Given the description of an element on the screen output the (x, y) to click on. 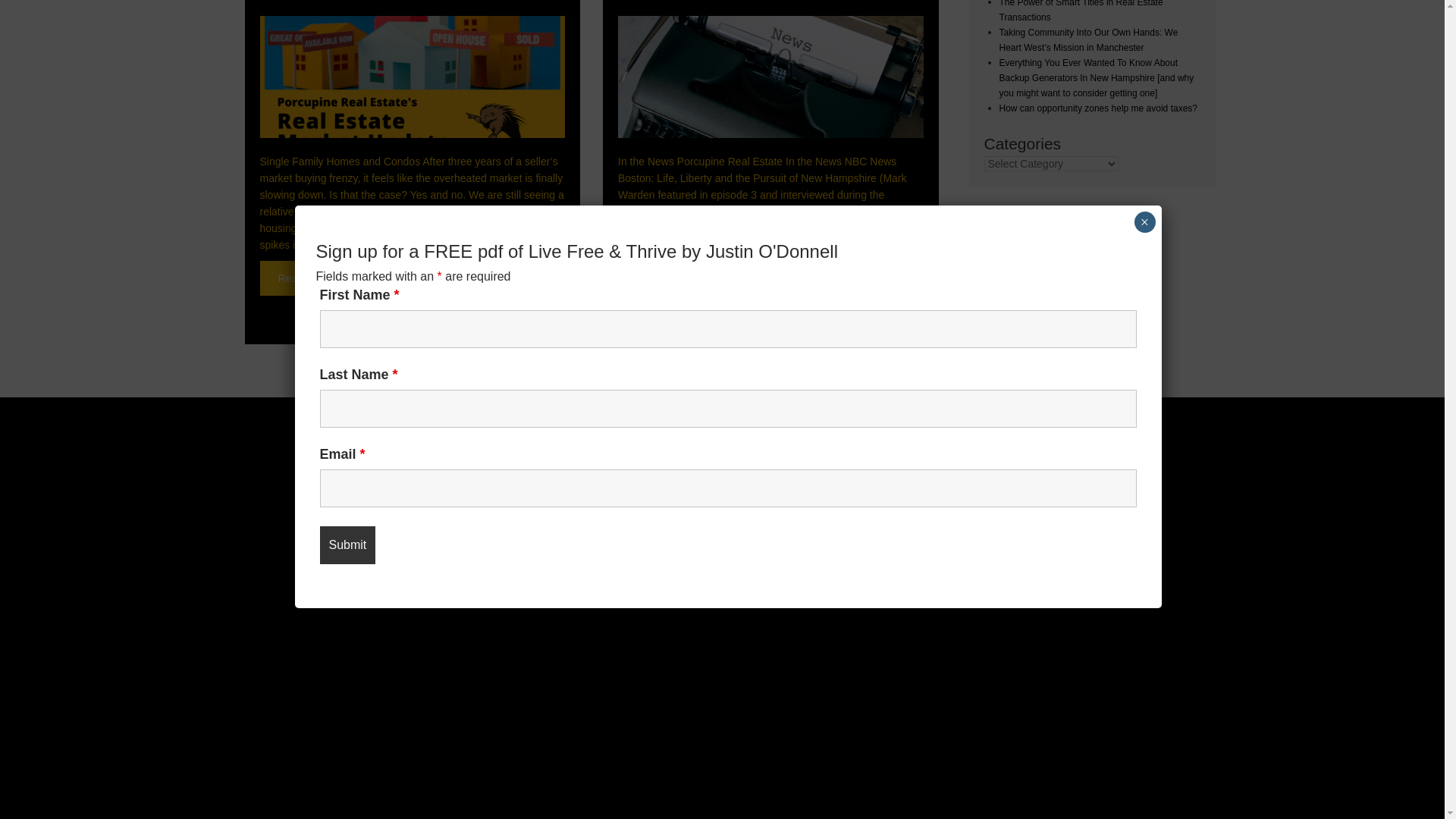
Porcupine Real Estate in the News (661, 294)
Read More (303, 278)
Submit (347, 220)
Porcupine Real Estate (516, 490)
October Real Estate Market Update (303, 278)
Porcupine Real Estate in the News (770, 76)
October Real Estate Market Update (411, 76)
Read More (661, 294)
